Given the description of an element on the screen output the (x, y) to click on. 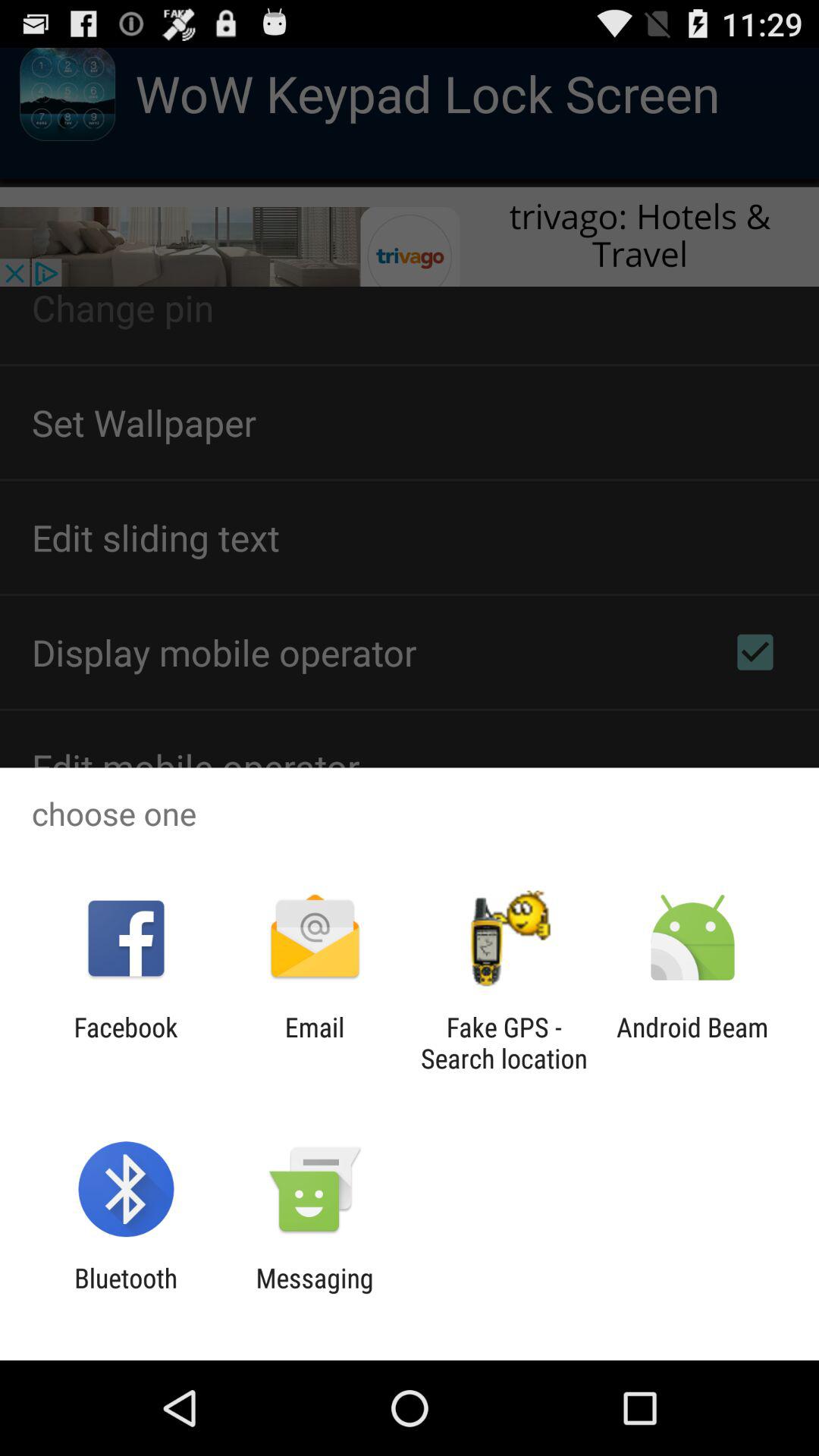
open the icon to the right of the facebook (314, 1042)
